Given the description of an element on the screen output the (x, y) to click on. 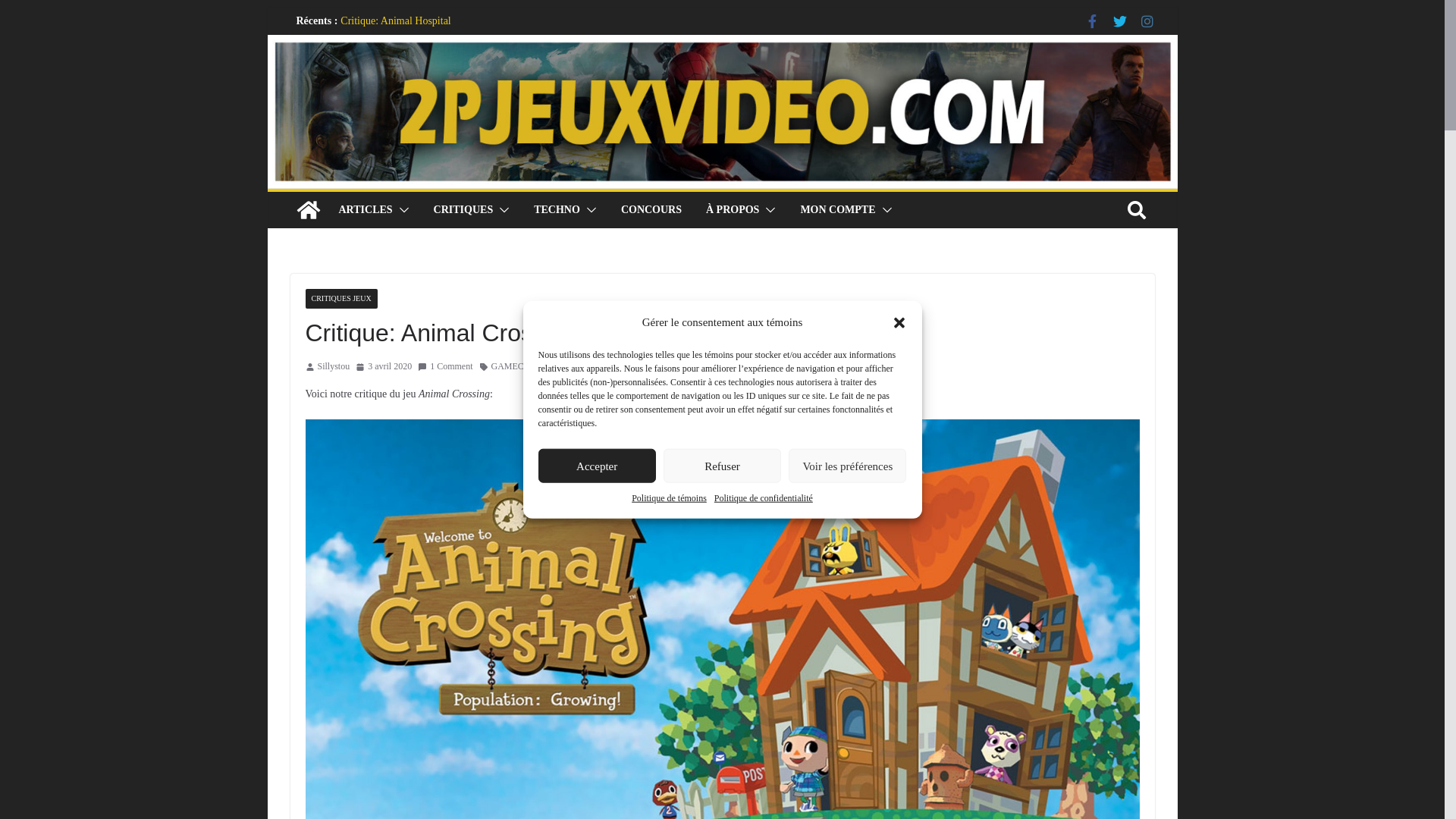
Aller au contenu Element type: text (266, 6)
ARTICLES Element type: text (365, 209)
3 avril 2020 Element type: text (383, 366)
GAMECUBE Element type: text (516, 366)
Refuser Element type: text (722, 465)
CRITIQUES Element type: text (463, 209)
MON COMPTE Element type: text (837, 209)
Sillystou Element type: text (332, 366)
CONCOURS Element type: text (651, 209)
CRITIQUES JEUX Element type: text (340, 298)
TECHNO Element type: text (556, 209)
Accepter Element type: text (596, 465)
1 Comment Element type: text (444, 366)
